Given the description of an element on the screen output the (x, y) to click on. 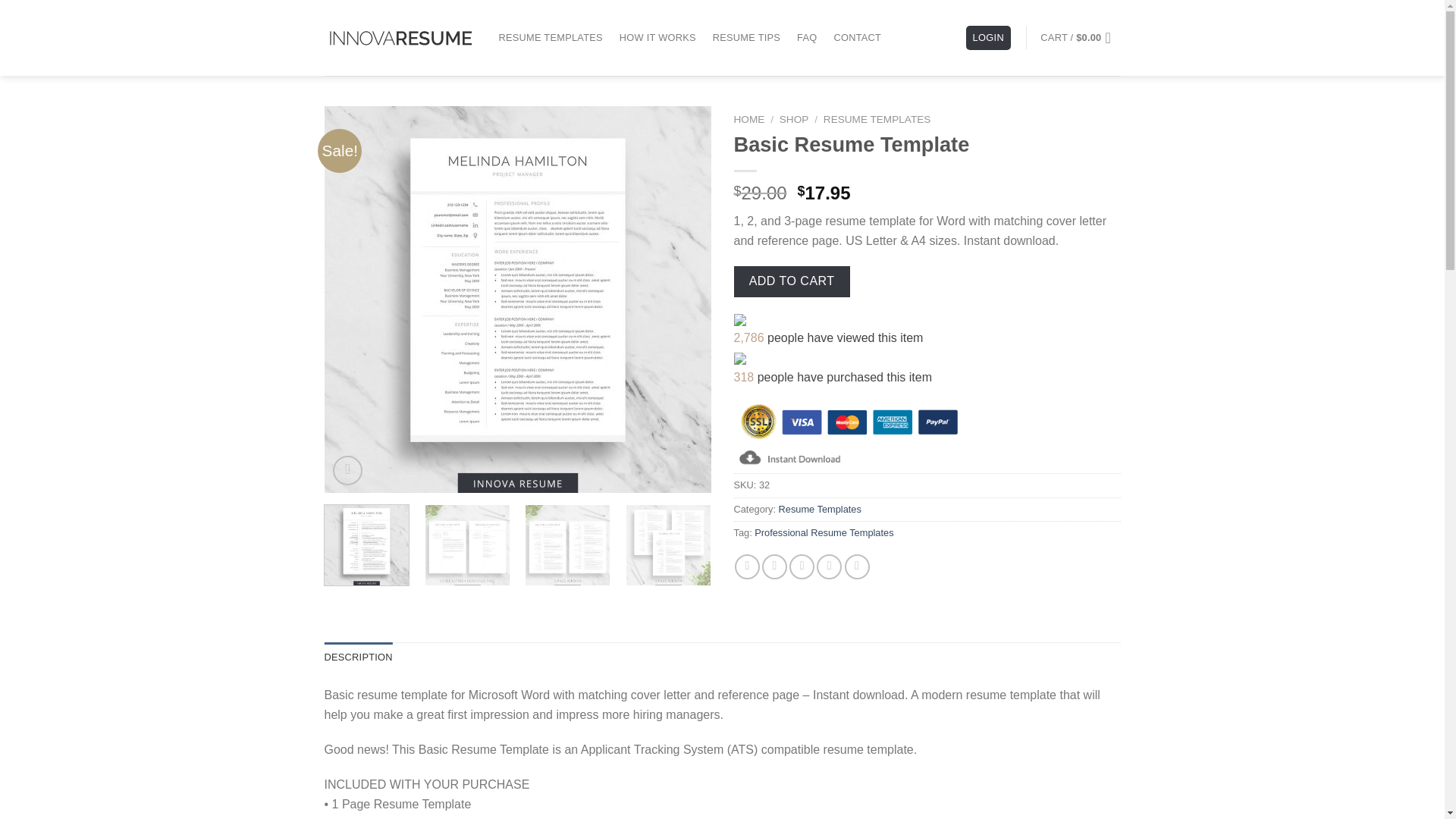
FAQ (806, 37)
Share on Twitter (774, 566)
Cart (1080, 37)
Email to a Friend (801, 566)
Zoom (347, 470)
Share on LinkedIn (856, 566)
CONTACT (856, 37)
RESUME TIPS (746, 37)
RESUME TEMPLATES (877, 119)
Resume Templates (819, 509)
Professional Resume Templates (823, 532)
ADD TO CART (791, 281)
Pin on Pinterest (828, 566)
LOGIN (988, 37)
